Given the description of an element on the screen output the (x, y) to click on. 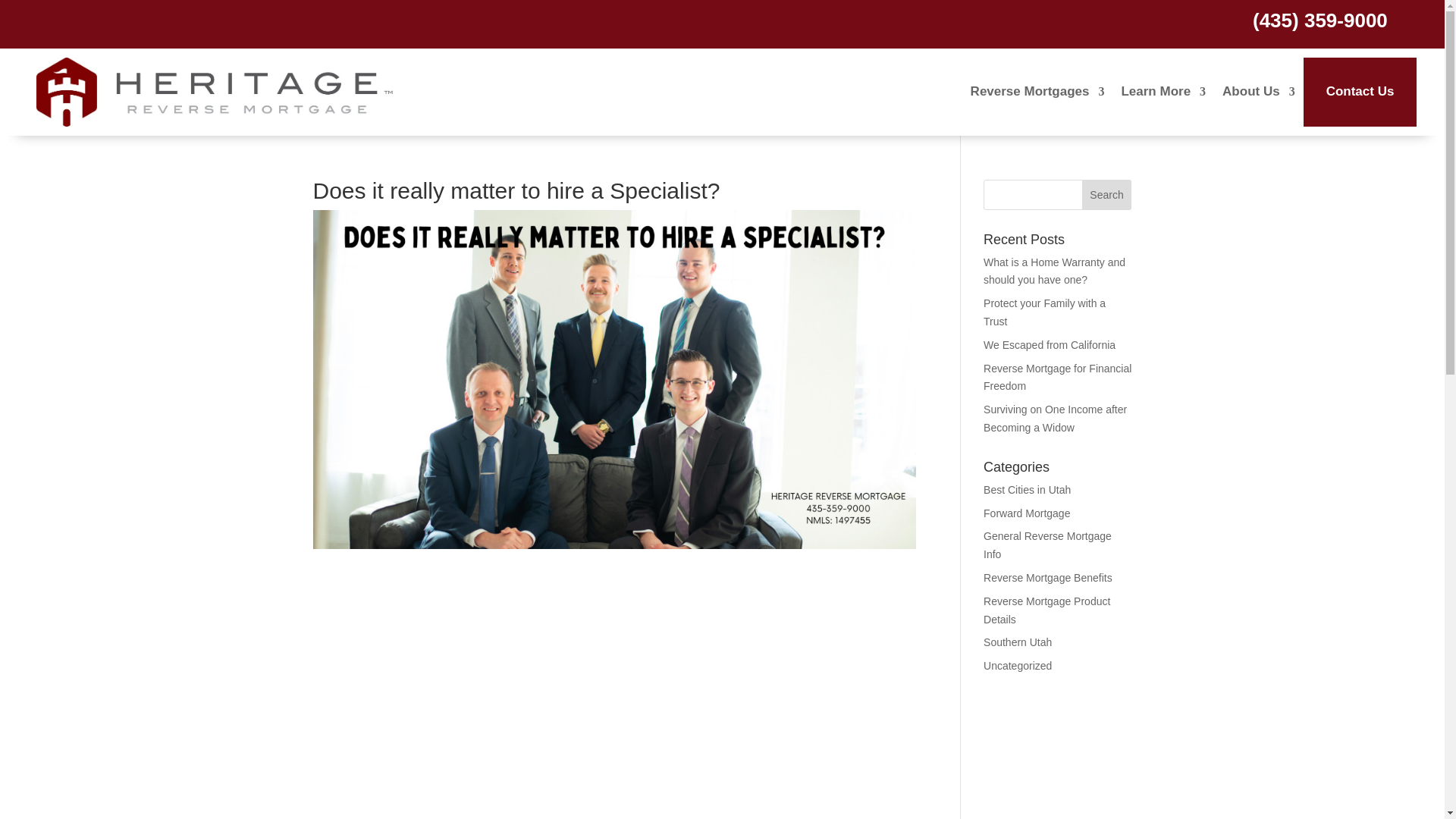
Search (1106, 194)
About Us (1259, 91)
We Escaped from California (1049, 345)
Learn More (1163, 91)
Protect your Family with a Trust (1044, 312)
What is a Home Warranty and should you have one? (1054, 271)
Contact Us (1359, 91)
Search (1106, 194)
Reverse Mortgage for Financial Freedom (1057, 377)
Surviving on One Income after Becoming a Widow (1055, 418)
Reverse Mortgages (1038, 91)
